Given the description of an element on the screen output the (x, y) to click on. 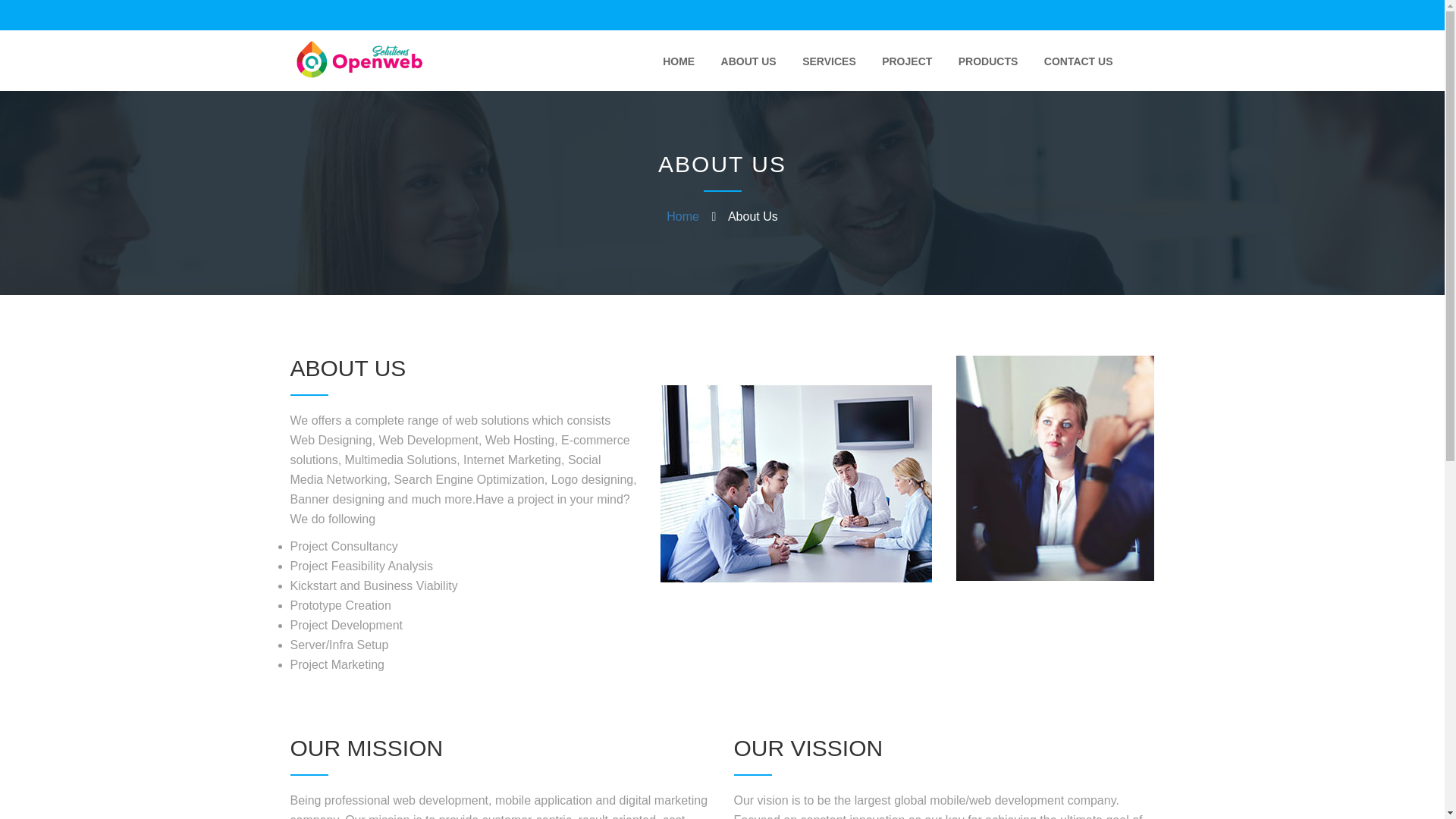
ABOUT US (748, 61)
CONTACT US (1078, 61)
Home (682, 215)
PROJECT (906, 61)
SERVICES (828, 61)
PRODUCTS (988, 61)
